Given the description of an element on the screen output the (x, y) to click on. 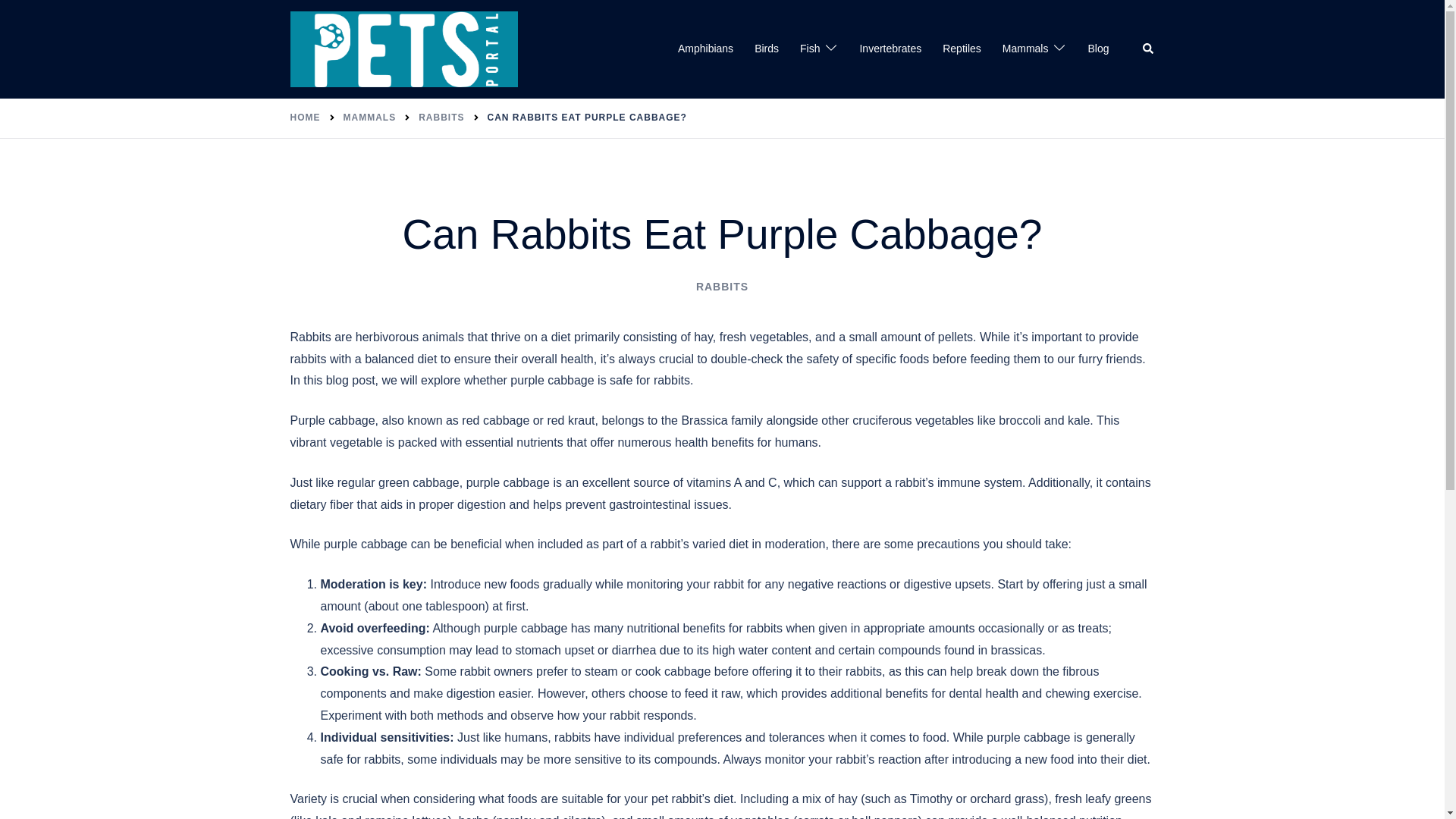
ThePetsPortal.com (402, 47)
Invertebrates (890, 48)
Fish (809, 48)
Birds (766, 48)
Search (1147, 49)
Reptiles (961, 48)
Amphibians (705, 48)
Blog (1097, 48)
Mammals (1025, 48)
